Given the description of an element on the screen output the (x, y) to click on. 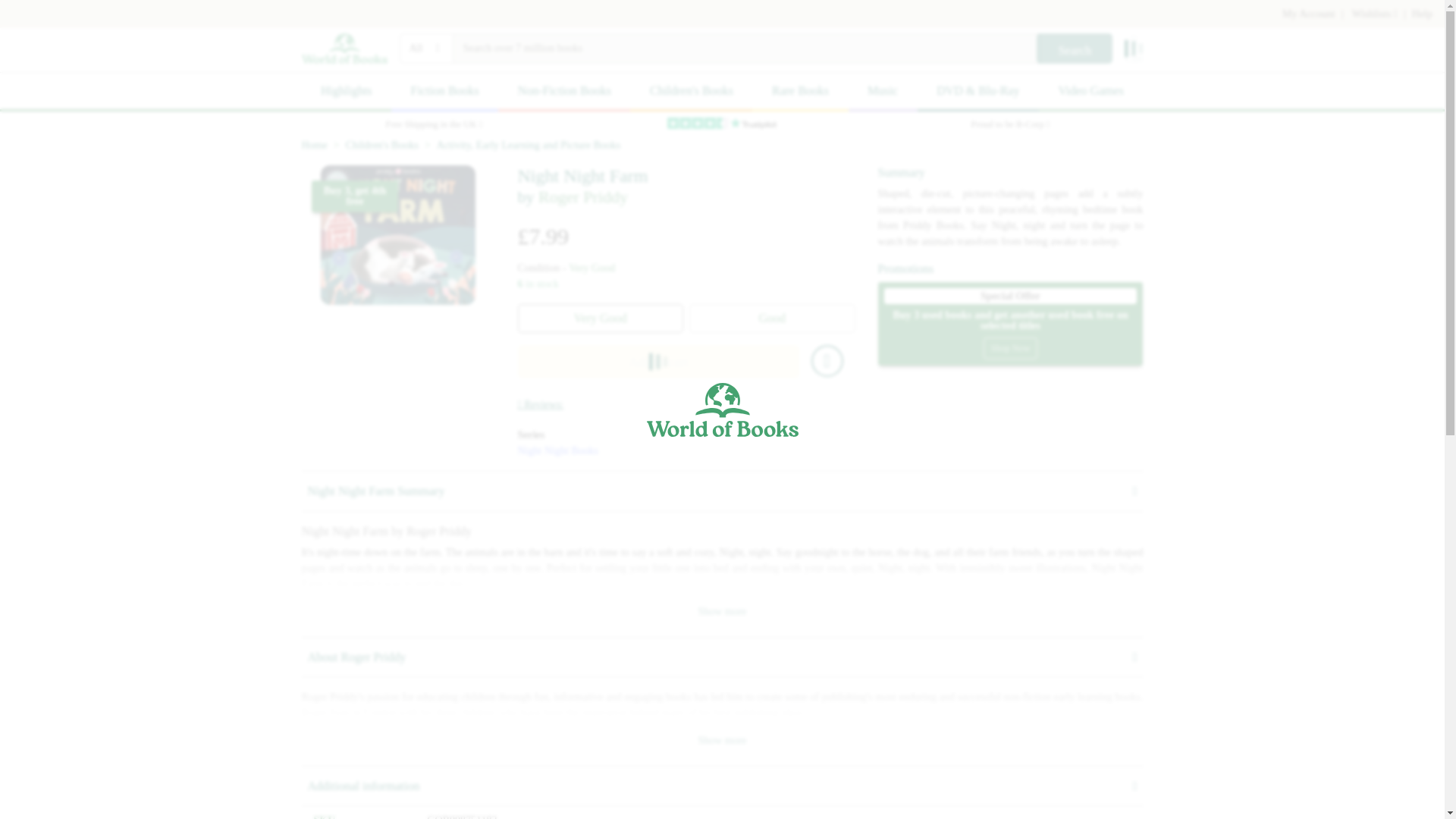
Children's Books (382, 144)
Help (1422, 13)
Music (882, 91)
My Account (1308, 13)
Show more (721, 611)
Activity, Early Learning and Picture Books (528, 144)
Children's Books (691, 91)
Video Games (1090, 91)
Add to cart (656, 361)
Reviews: (539, 405)
Shop Now (1010, 347)
Roger Priddy (582, 196)
Non-Fiction Books (563, 91)
Rare Books (799, 91)
Fiction Books (444, 91)
